Given the description of an element on the screen output the (x, y) to click on. 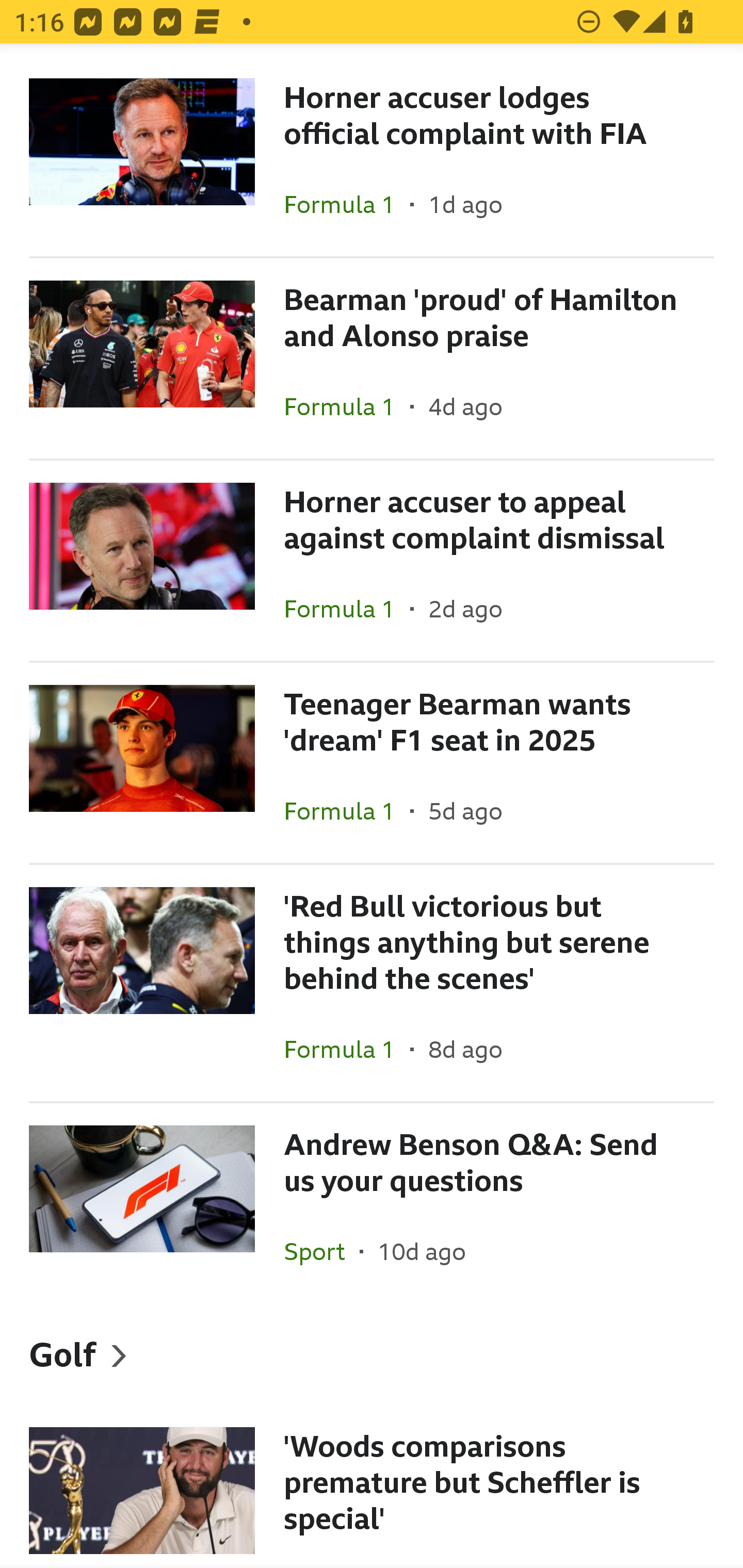
Sport In the section Sport (321, 1251)
Golf, Heading Golf    (371, 1353)
